Given the description of an element on the screen output the (x, y) to click on. 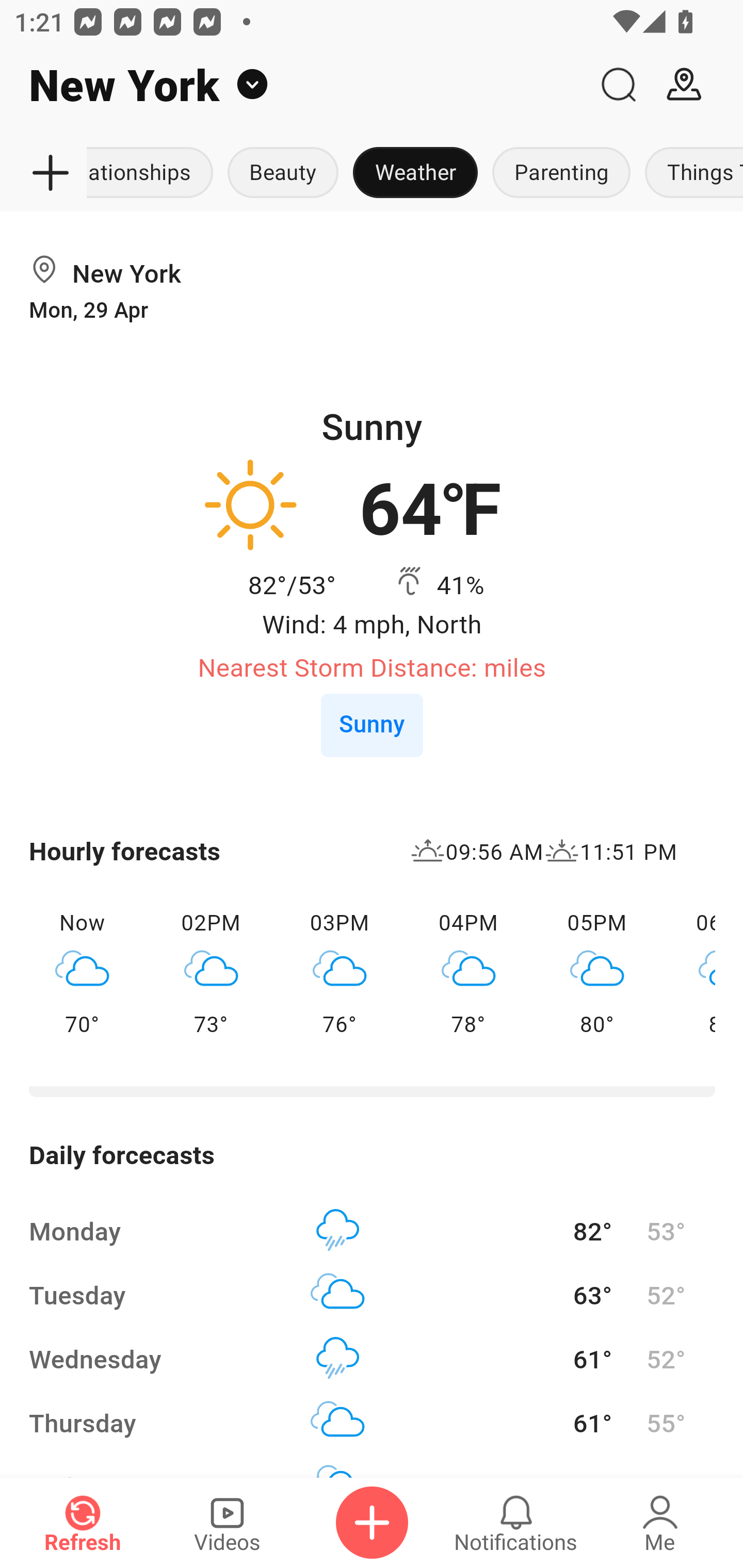
New York (292, 84)
Relationships (153, 172)
Beauty (282, 172)
Weather (415, 172)
Parenting (561, 172)
Things To Do (690, 172)
Videos (227, 1522)
Notifications (516, 1522)
Me (659, 1522)
